Given the description of an element on the screen output the (x, y) to click on. 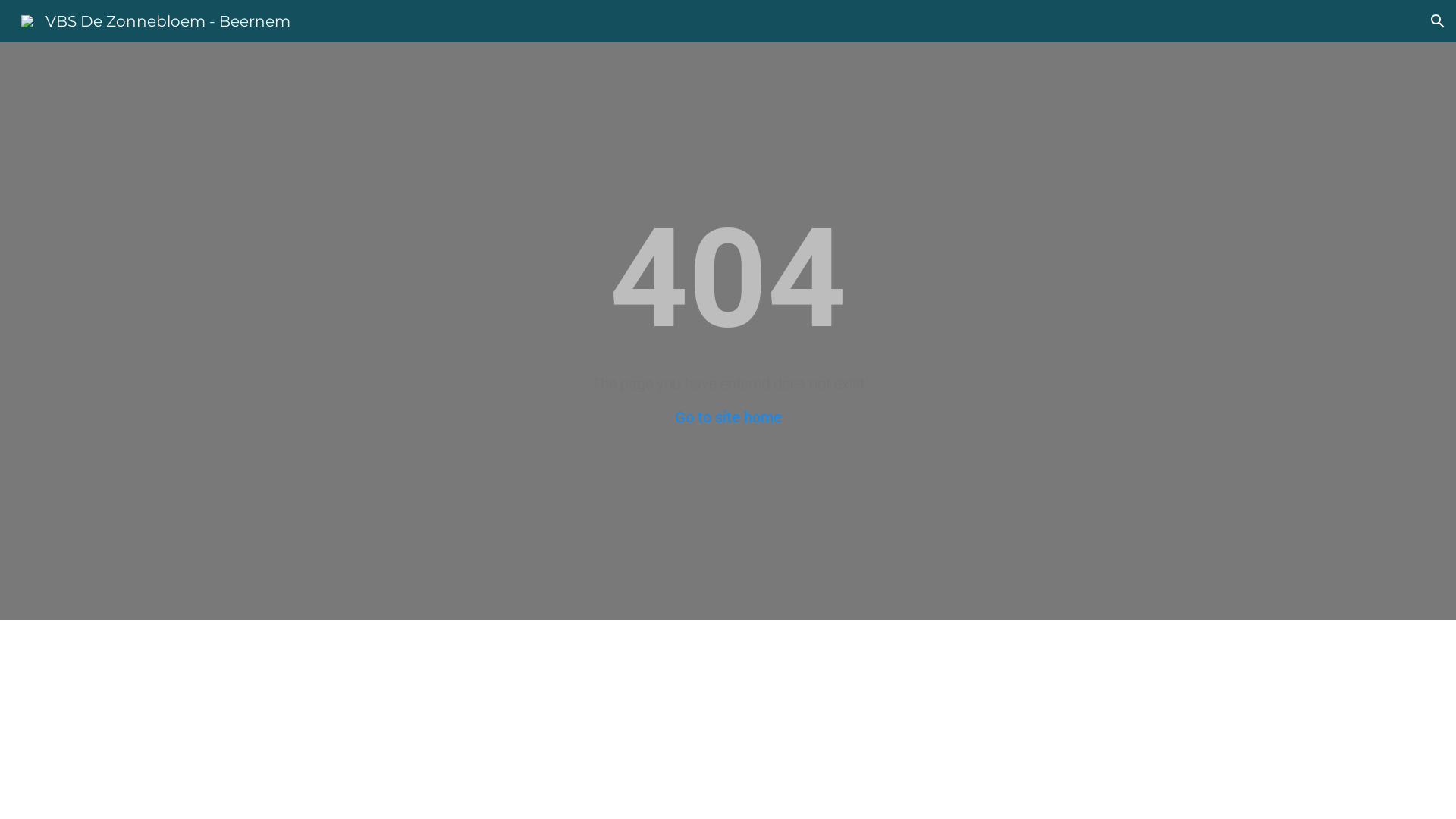
VBS De Zonnebloem - Beernem Element type: text (155, 19)
Go to site home Element type: text (727, 416)
